Given the description of an element on the screen output the (x, y) to click on. 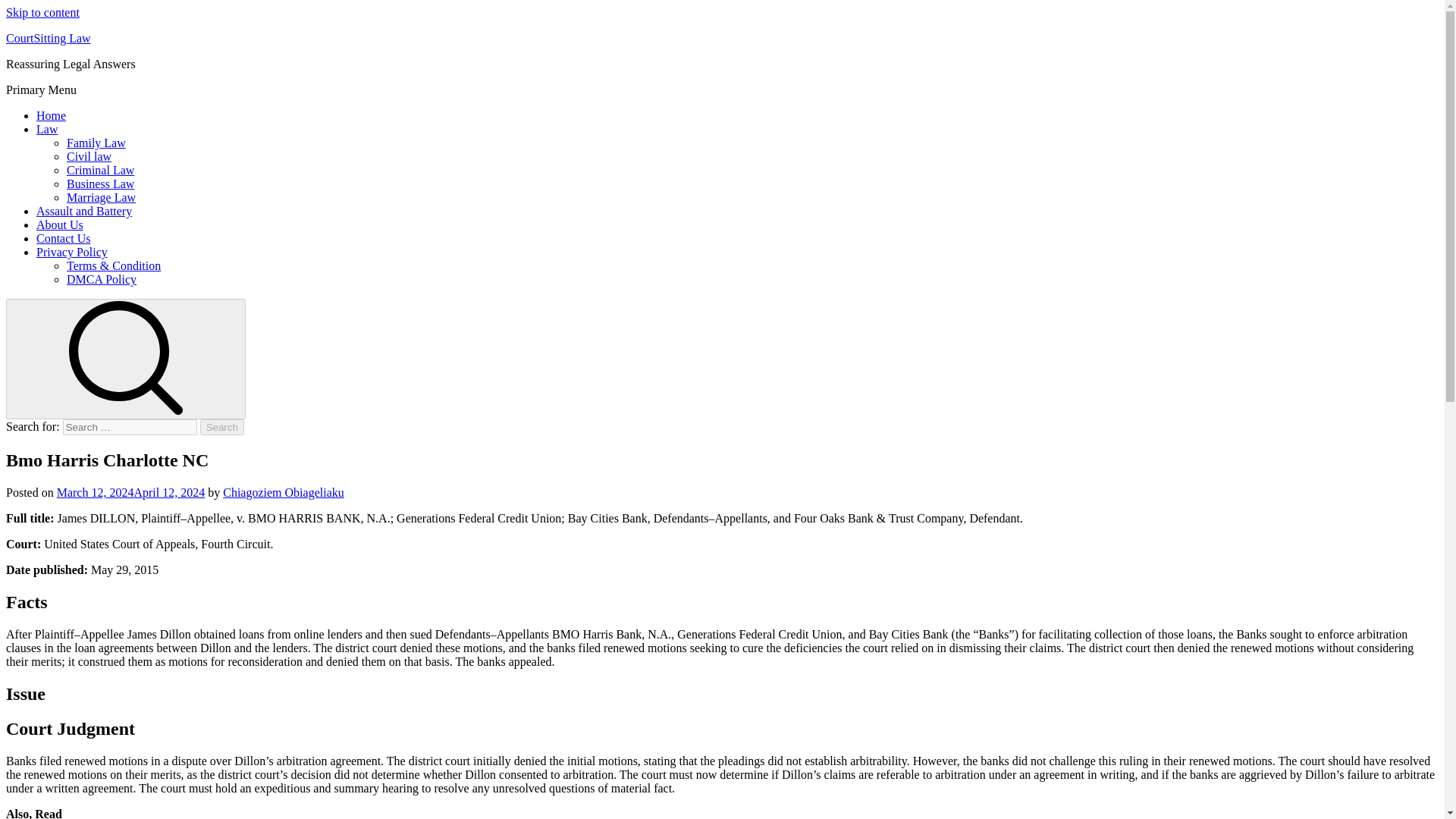
Civil law (89, 155)
Assault and Battery (84, 210)
Criminal Law (99, 169)
About Us (59, 224)
Search (222, 426)
Business Law (99, 183)
Chiagoziem Obiageliaku (282, 492)
Privacy Policy (71, 251)
March 12, 2024April 12, 2024 (130, 492)
Marriage Law (100, 196)
Law (47, 128)
Family Law (95, 142)
CourtSitting Law (47, 38)
Skip to content (42, 11)
Search (222, 426)
